Given the description of an element on the screen output the (x, y) to click on. 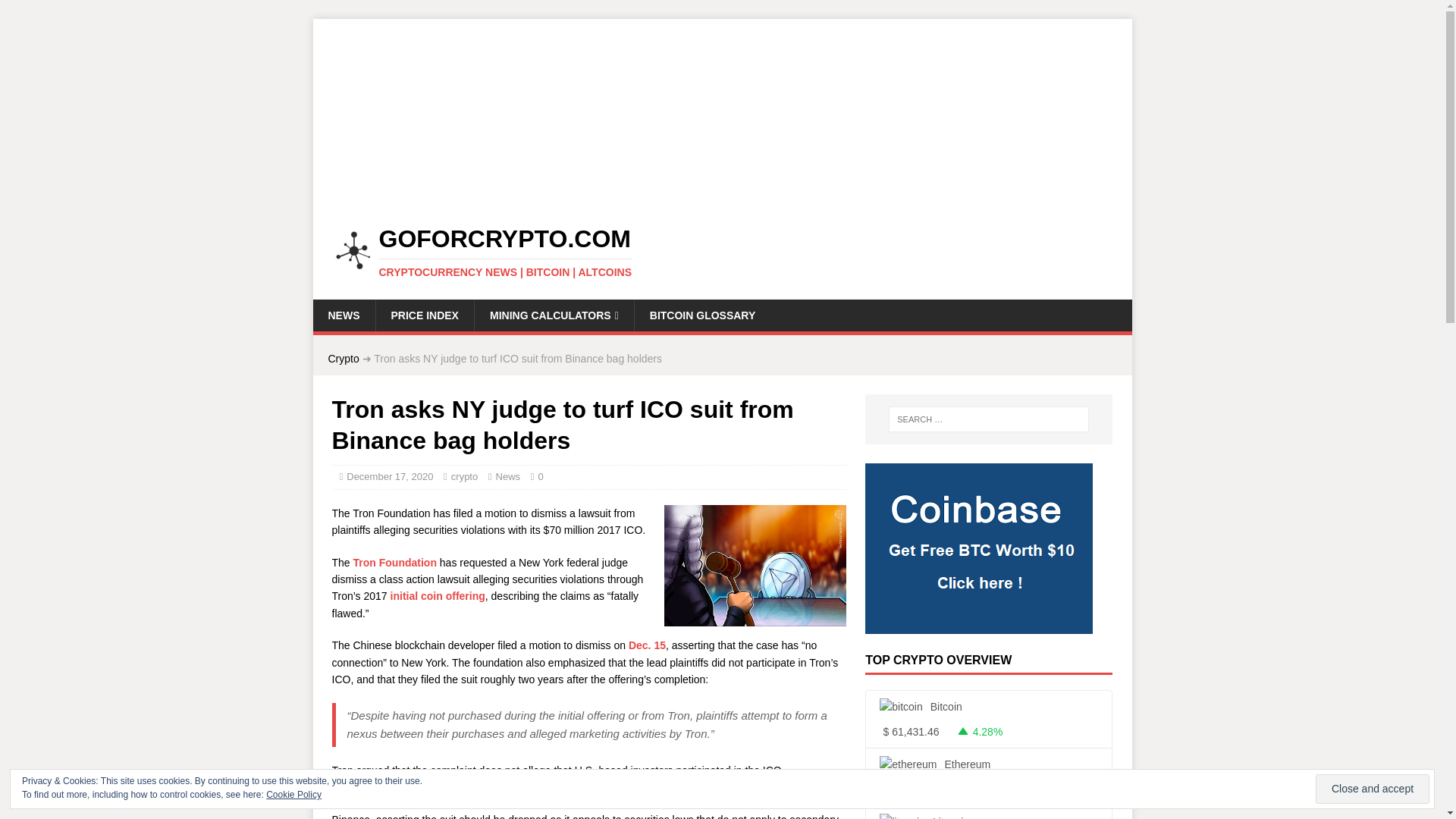
initial coin offering (437, 595)
News (508, 476)
Dec. 15 (646, 645)
Close and accept (1372, 788)
GoForCrypto.com (722, 198)
Search (56, 11)
PRICE INDEX (423, 315)
MINING CALCULATORS (553, 315)
Tron Foundation (394, 562)
crypto (464, 476)
